Given the description of an element on the screen output the (x, y) to click on. 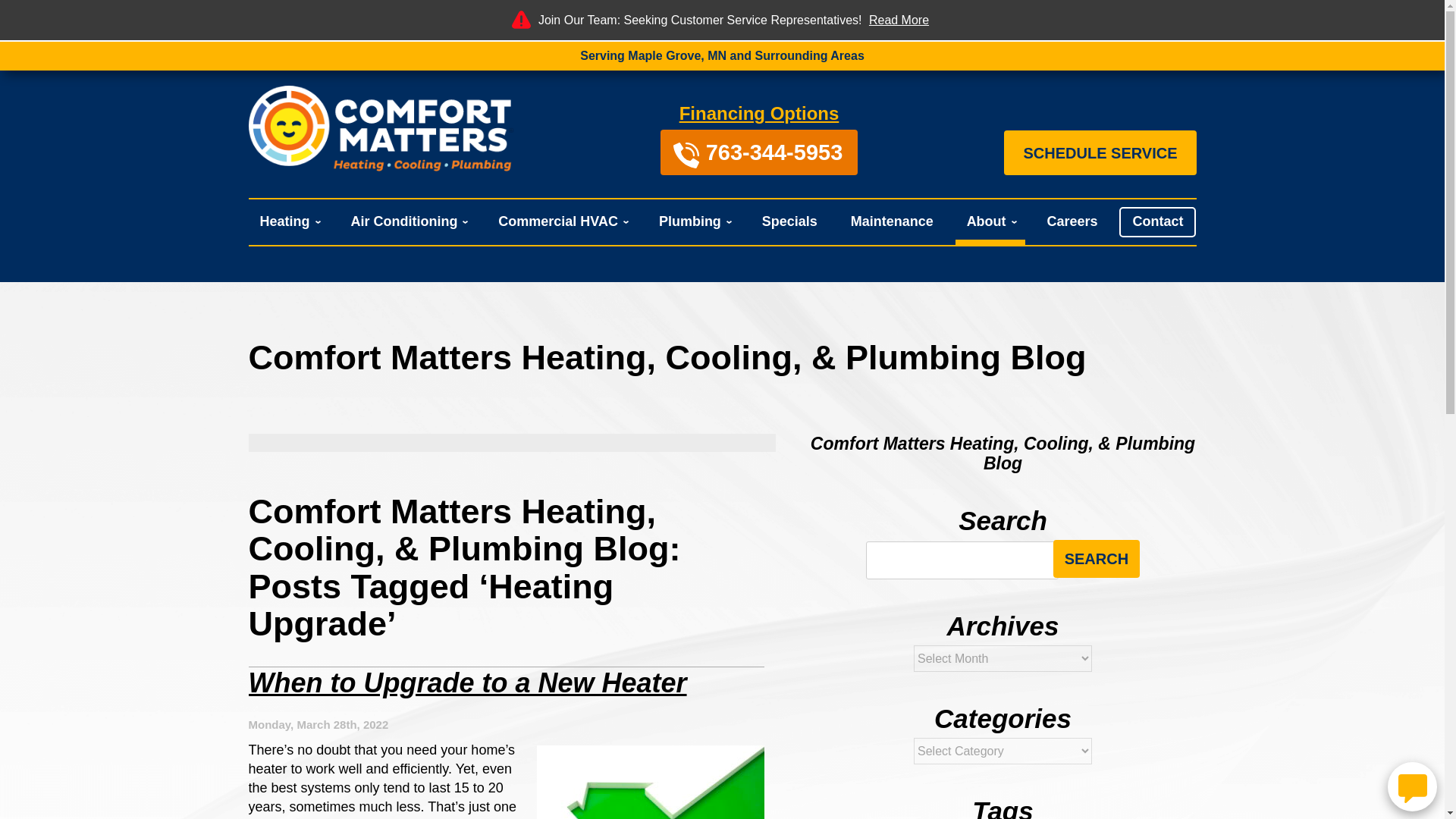
Heating (288, 221)
Financing Options (759, 113)
763-344-5953 (760, 152)
SCHEDULE SERVICE (1099, 153)
Permanent Link to When to Upgrade to a New Heater (467, 682)
Air Conditioning (407, 221)
Read More (898, 19)
